Given the description of an element on the screen output the (x, y) to click on. 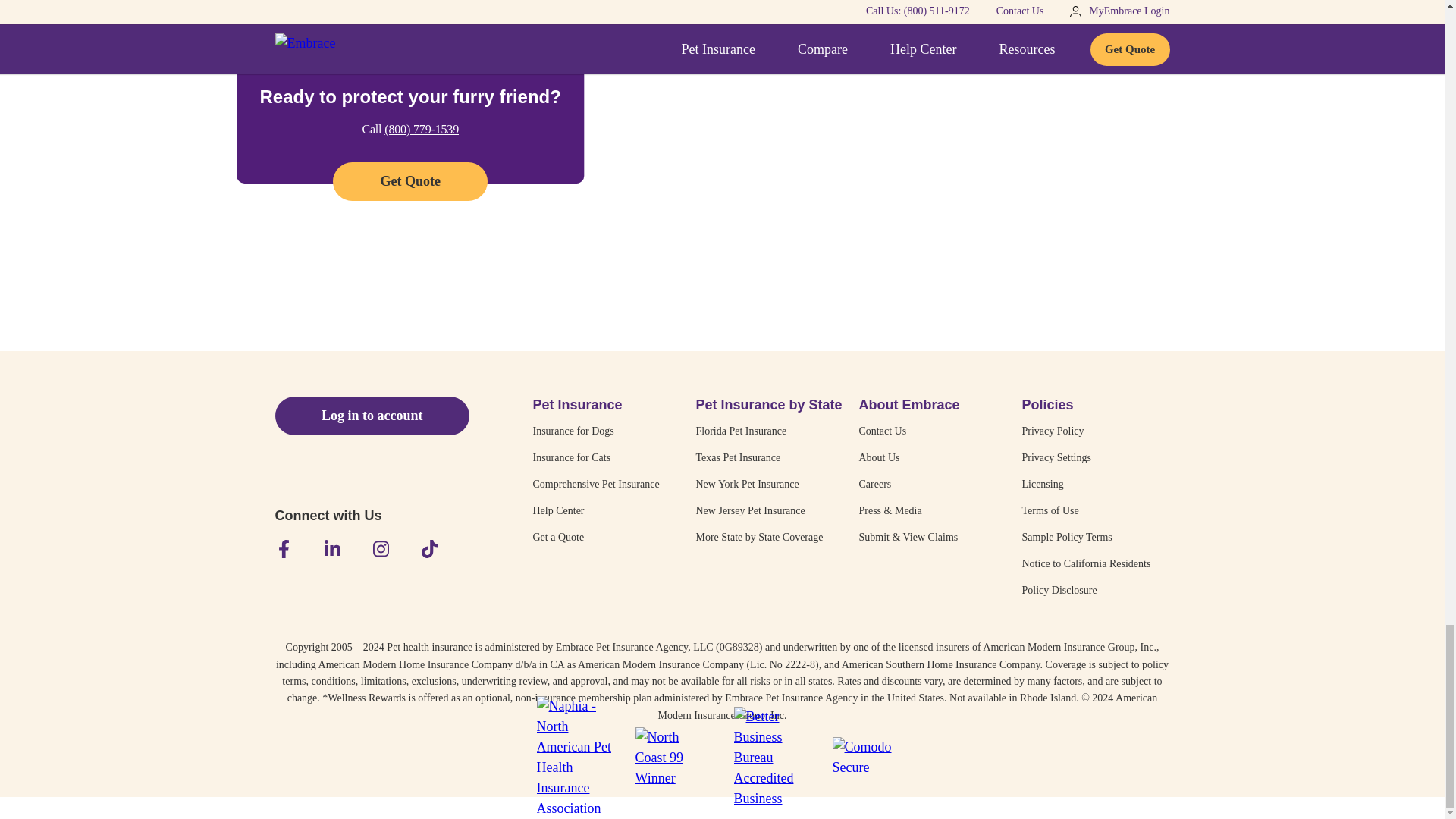
Embrace Pet Insurance on TikTok (429, 548)
Embrace Pet Insurance on LinkedIn (331, 548)
Embrace Pet Insurance on Facebook (283, 548)
Embrace Pet Insurance on Instagram (380, 548)
